Given the description of an element on the screen output the (x, y) to click on. 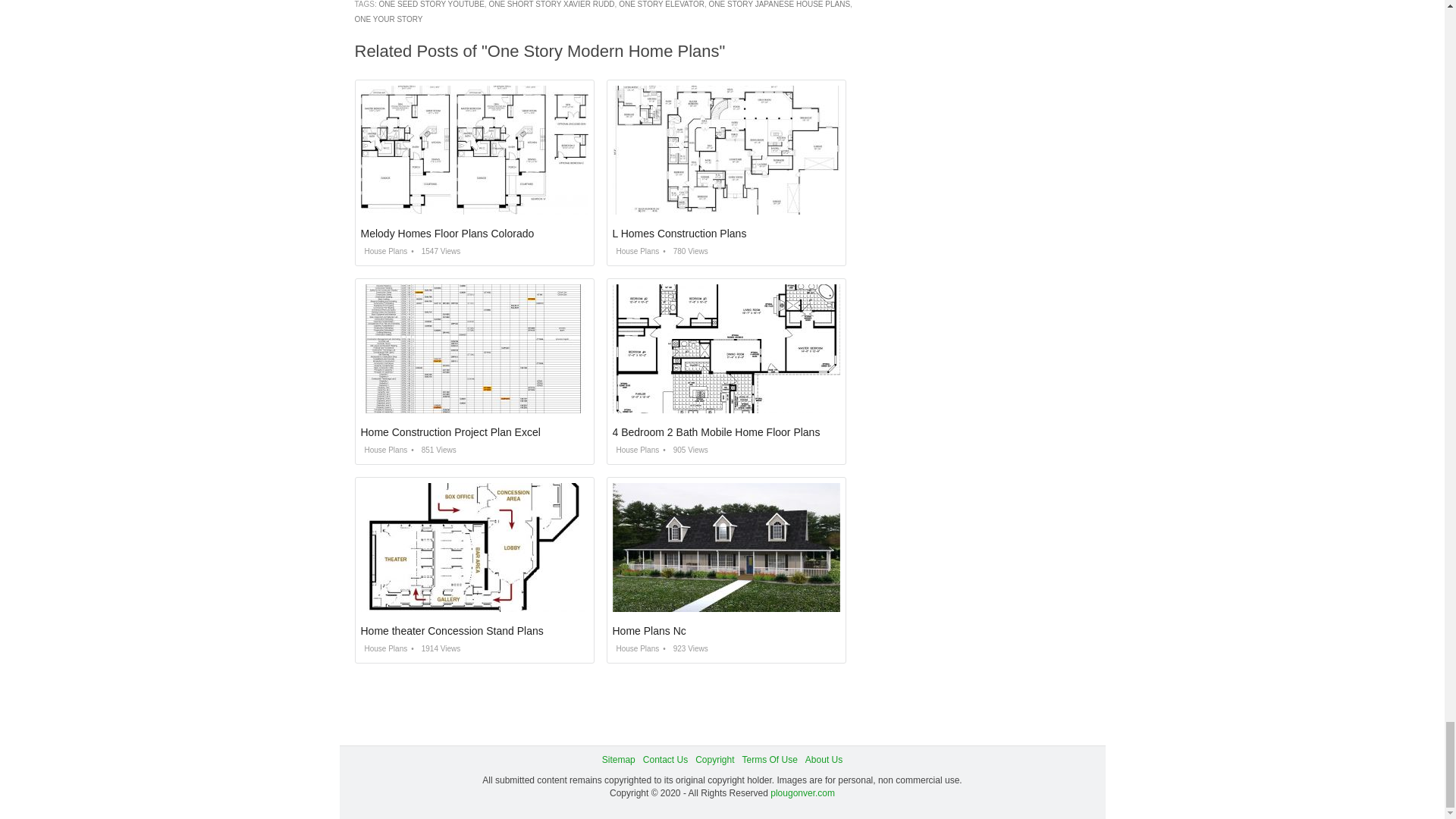
House Plans (635, 251)
Melody Homes Floor Plans Colorado (447, 233)
ONE SEED STORY YOUTUBE (431, 4)
ONE YOUR STORY (389, 19)
L Homes Construction Plans (679, 233)
ONE SHORT STORY XAVIER RUDD (550, 4)
House Plans (384, 251)
ONE STORY JAPANESE HOUSE PLANS (779, 4)
ONE STORY ELEVATOR (661, 4)
